Given the description of an element on the screen output the (x, y) to click on. 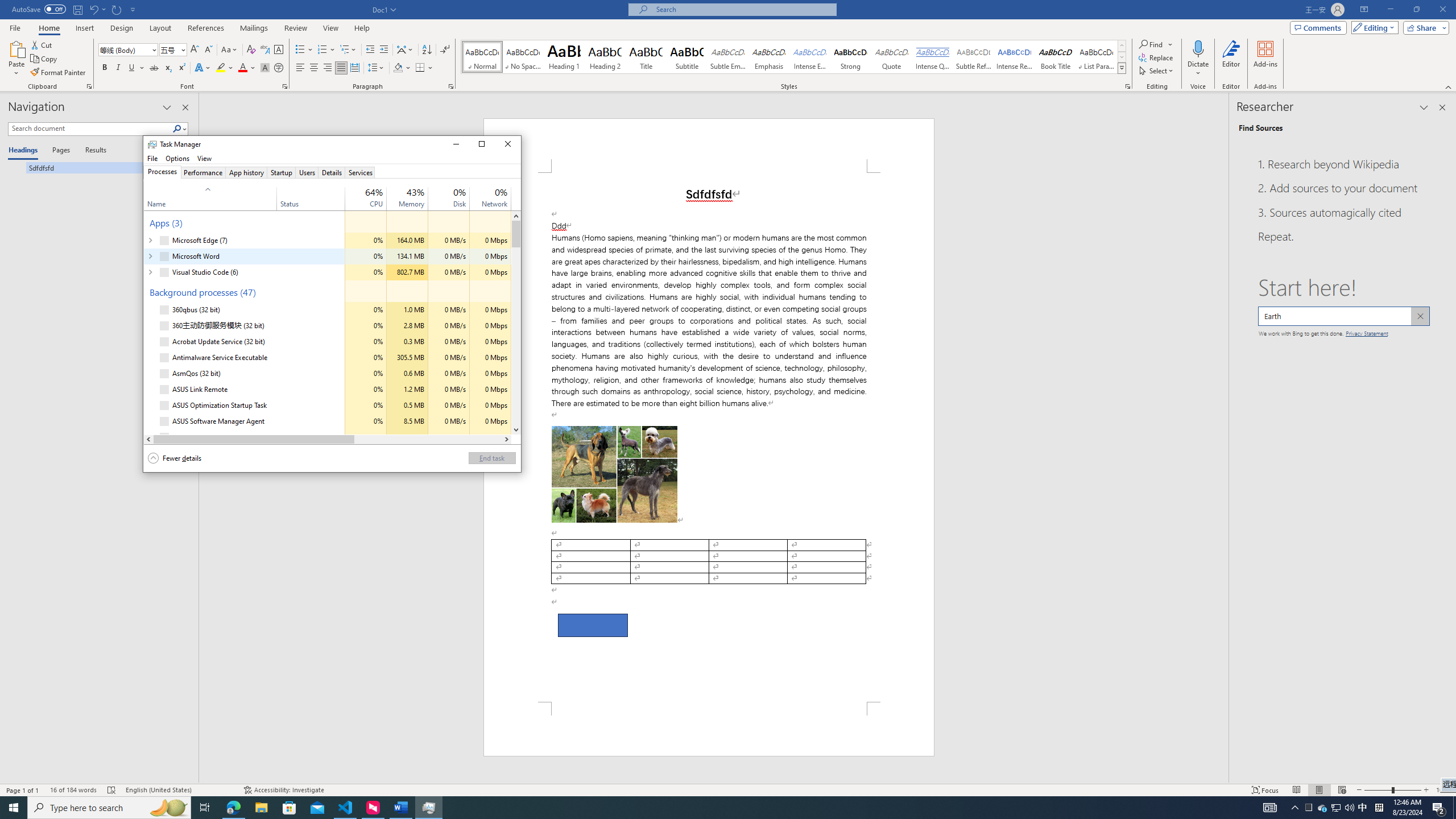
Cancel (1419, 316)
Vertical (516, 322)
Page down (516, 336)
Details (331, 171)
Intense Reference (1014, 56)
Page right (427, 438)
End task (491, 457)
Processes (162, 171)
Repeat Insert Shape (117, 9)
